Given the description of an element on the screen output the (x, y) to click on. 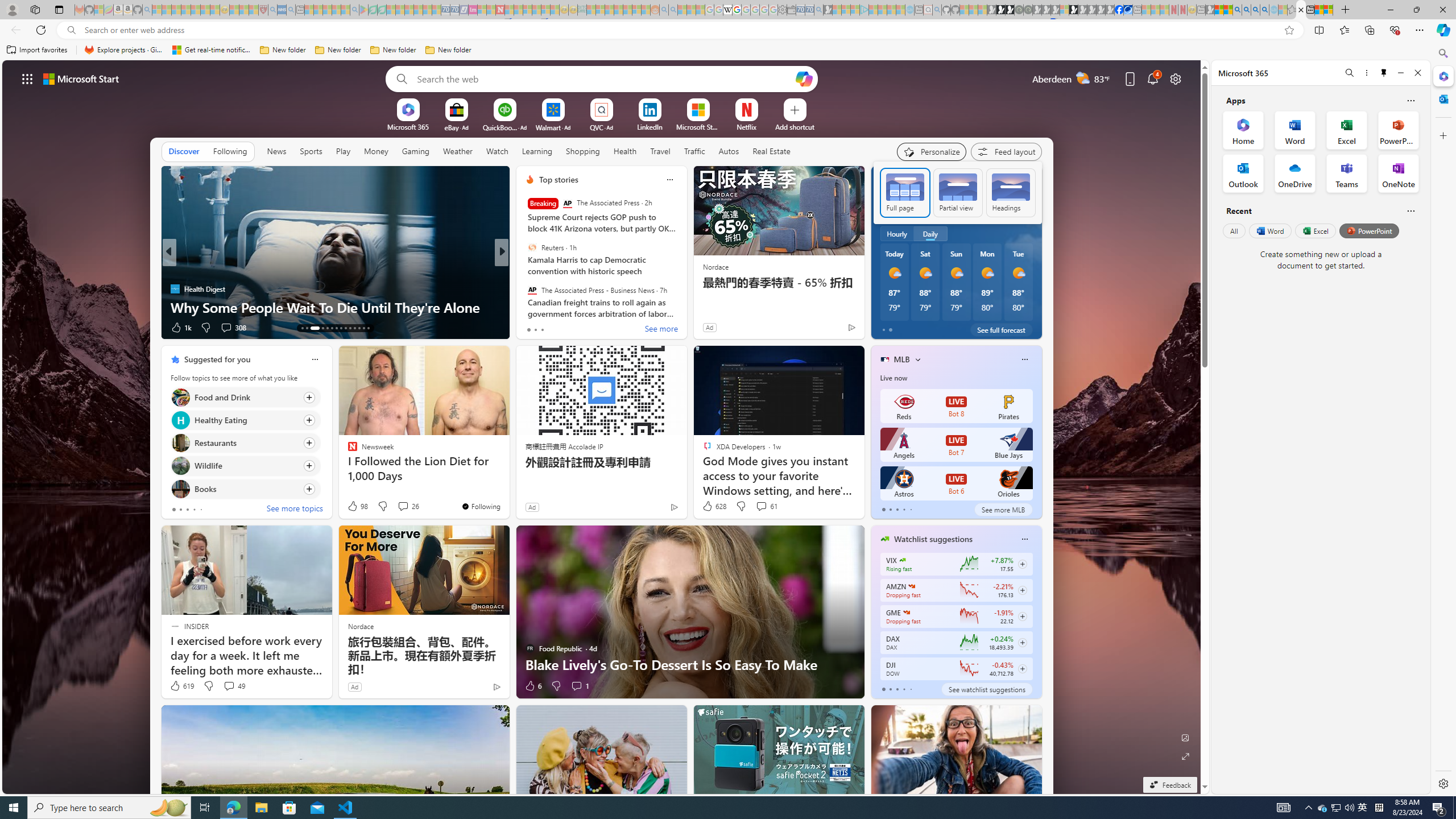
14 Common Myths Debunked By Scientific Facts - Sleeping (518, 9)
Food and Drink (180, 397)
tab-1 (889, 689)
OneNote Office App (1398, 172)
AutomationID: tab-25 (363, 328)
Watch (496, 151)
Daily (929, 233)
View comments 84 Comment (585, 327)
Wallet - Sleeping (790, 9)
AutomationID: tab-24 (358, 328)
Add a site (793, 126)
ZDNet (524, 270)
